Given the description of an element on the screen output the (x, y) to click on. 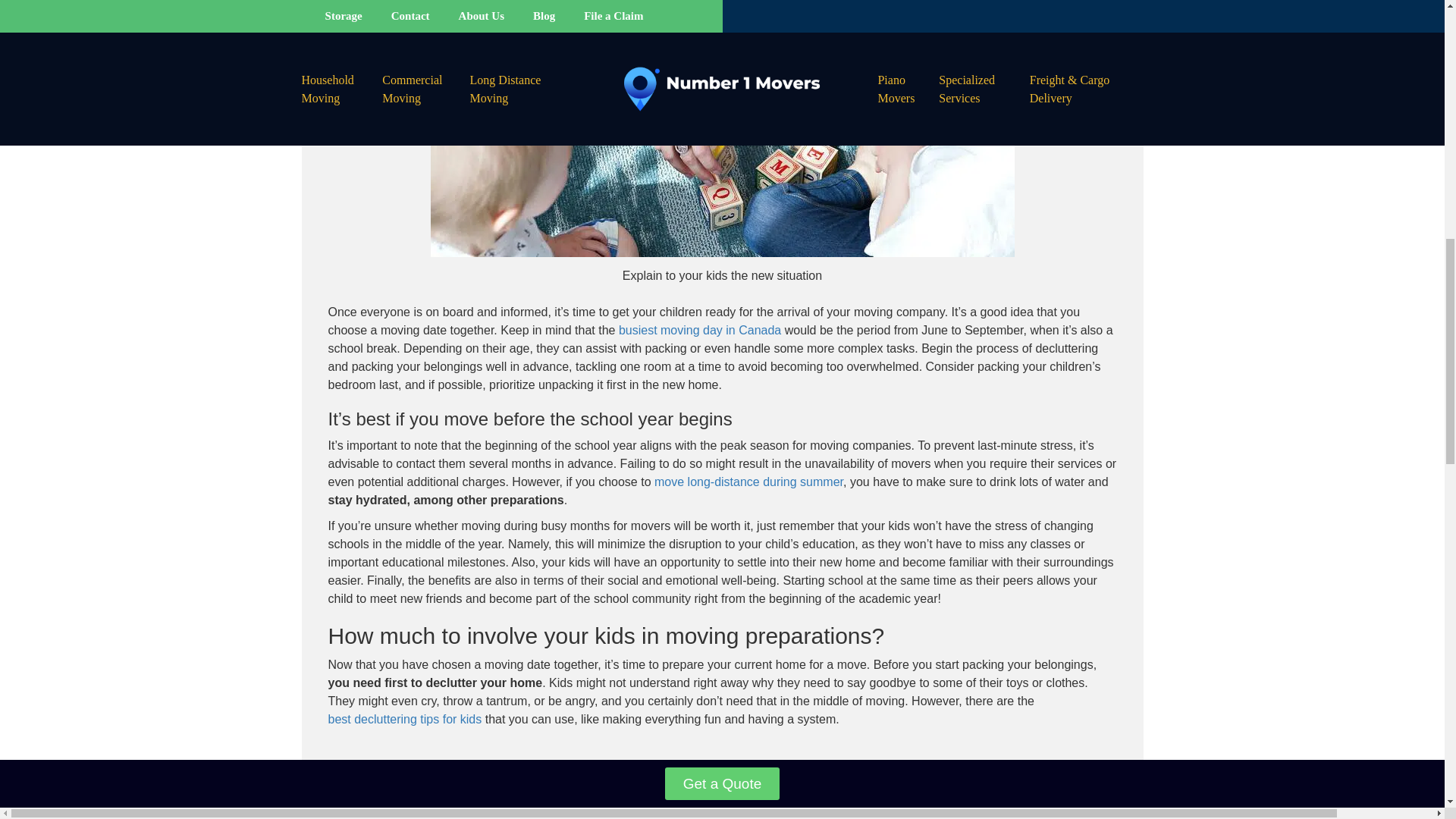
move long-distance during summer (748, 481)
best decluttering tips for kids (404, 718)
busiest moving day in Canada (699, 329)
